Given the description of an element on the screen output the (x, y) to click on. 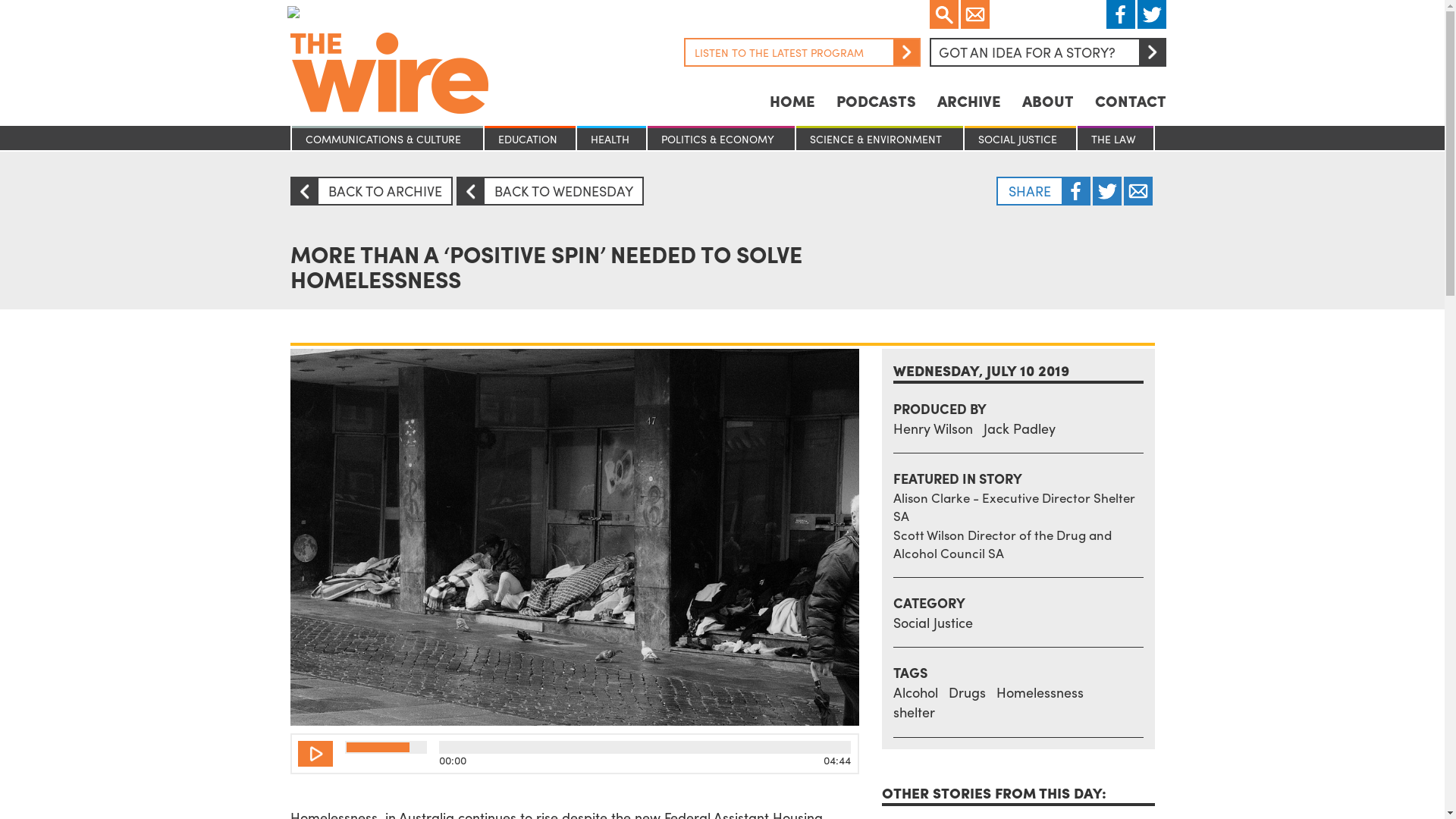
Jack Padley Element type: text (1018, 427)
Facebook Element type: text (1075, 190)
Homelessness Element type: text (1039, 691)
Alcohol Element type: text (915, 691)
CONTACT Element type: text (1130, 100)
Social Justice Element type: text (932, 621)
Twitter Element type: text (1151, 14)
shelter Element type: text (914, 711)
GOT AN IDEA FOR A STORY? Element type: text (1047, 51)
ARCHIVE Element type: text (969, 100)
SCIENCE & ENVIRONMENT Element type: text (879, 139)
HOME Element type: text (791, 100)
EDUCATION Element type: text (529, 139)
Twitter Element type: text (1137, 190)
The Wire Element type: text (419, 89)
Drugs Element type: text (966, 691)
Email Element type: text (974, 14)
ARROW
BACK TO WEDNESDAY Element type: text (549, 190)
HEALTH Element type: text (611, 139)
Search Element type: text (943, 14)
ARROW
BACK TO ARCHIVE Element type: text (370, 190)
PODCASTS Element type: text (875, 100)
SOCIAL JUSTICE Element type: text (1020, 139)
ABOUT Element type: text (1047, 100)
Henry Wilson Element type: text (932, 427)
Twitter Element type: text (1106, 190)
THE LAW Element type: text (1115, 139)
COMMUNICATIONS & CULTURE Element type: text (387, 139)
ARROW
LISTEN TO THE LATEST PROGRAM Element type: text (802, 51)
POLITICS & ECONOMY Element type: text (720, 139)
Facebook Element type: text (1119, 14)
